Given the description of an element on the screen output the (x, y) to click on. 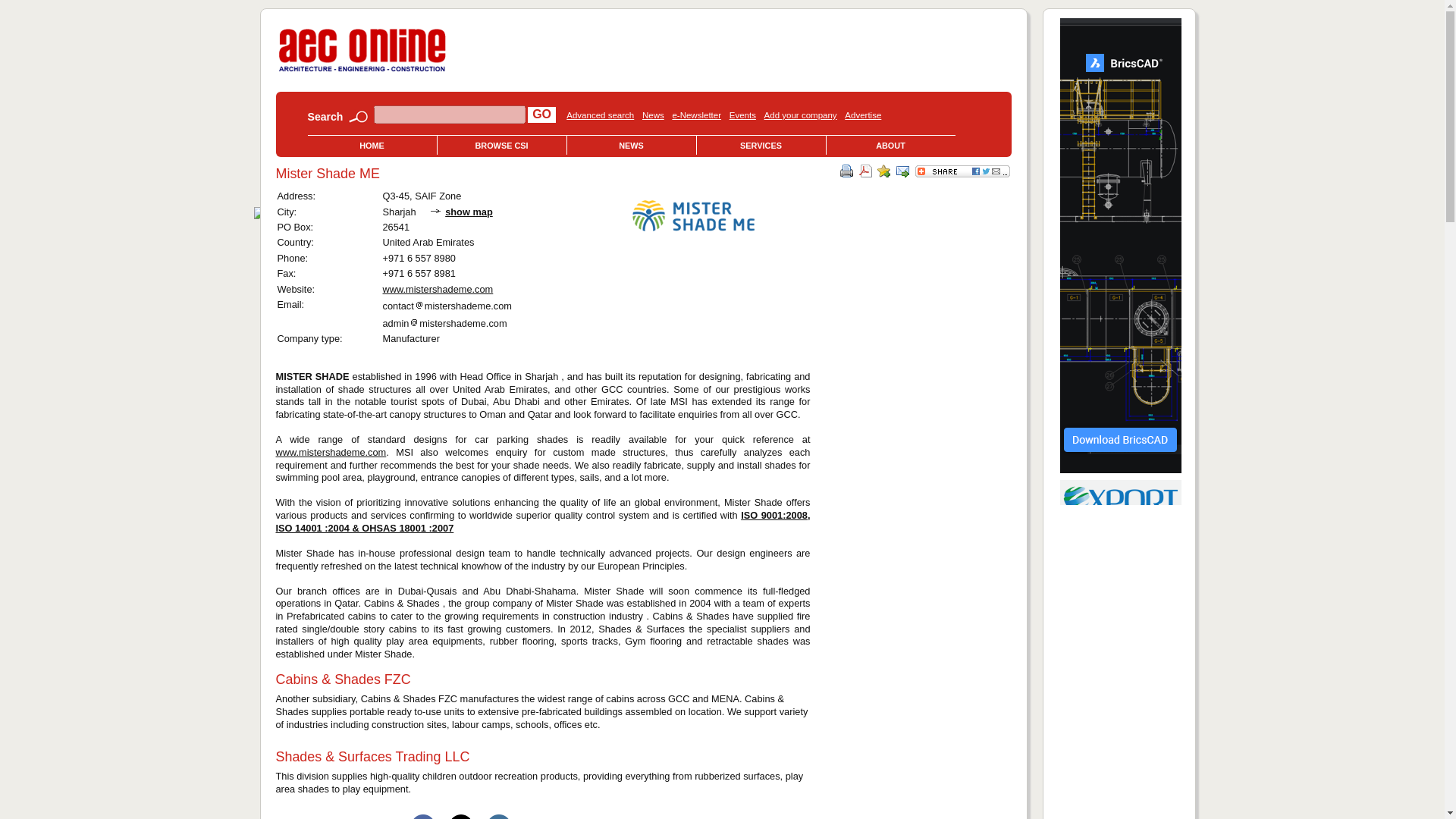
AEC Online (362, 50)
News (652, 114)
show map (469, 211)
Go to AEC Online homepage (362, 71)
Facebook (422, 816)
SERVICES (760, 146)
GO (541, 114)
Bookmark this page (883, 170)
GO (541, 114)
Mister Shade ME (692, 214)
